Given the description of an element on the screen output the (x, y) to click on. 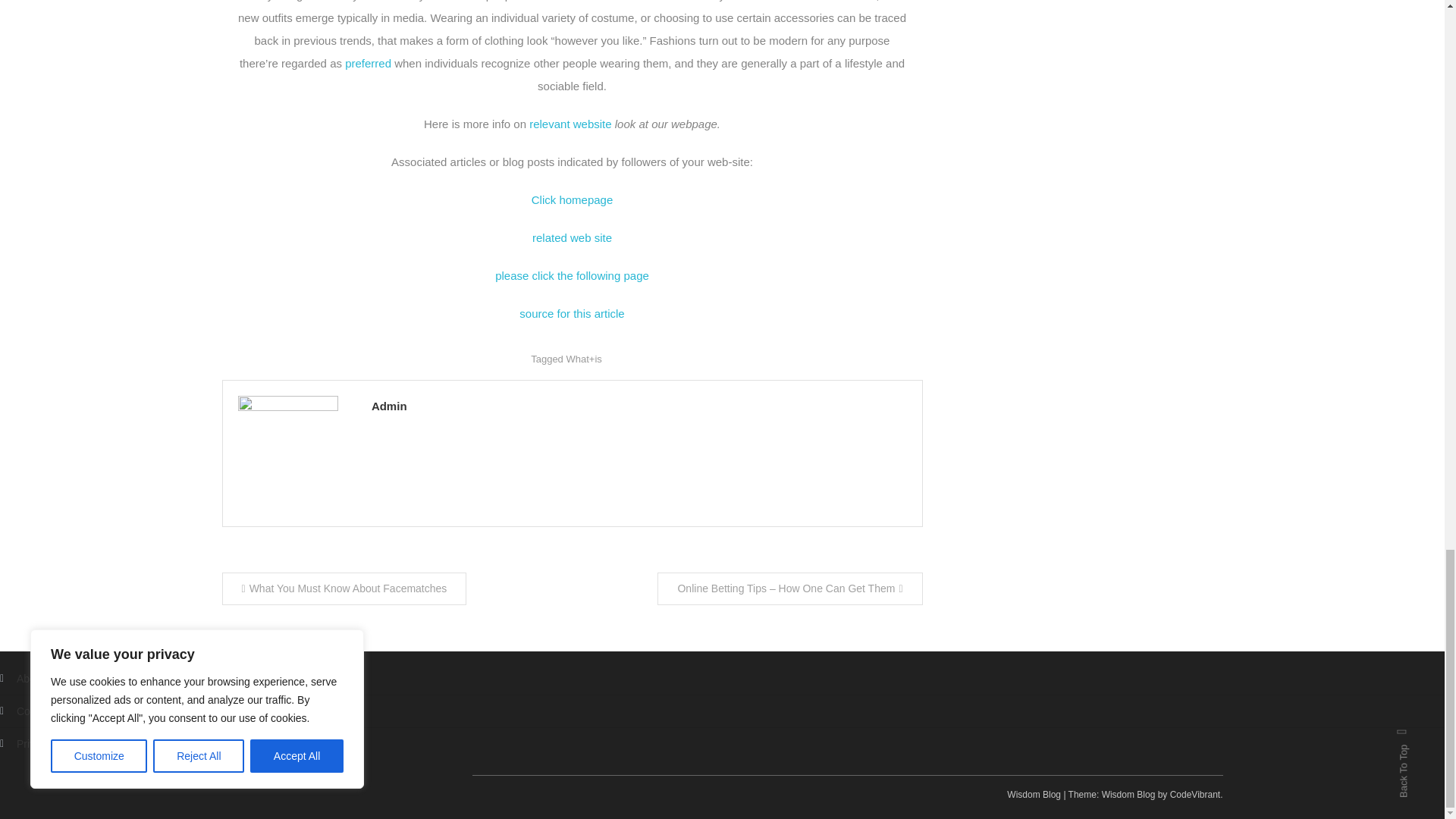
What You Must Know About Facematches (343, 588)
relevant website (570, 123)
Click homepage (571, 199)
please click the following page (572, 275)
Admin (639, 405)
source for this article (571, 313)
preferred (368, 62)
related web site (571, 237)
